Given the description of an element on the screen output the (x, y) to click on. 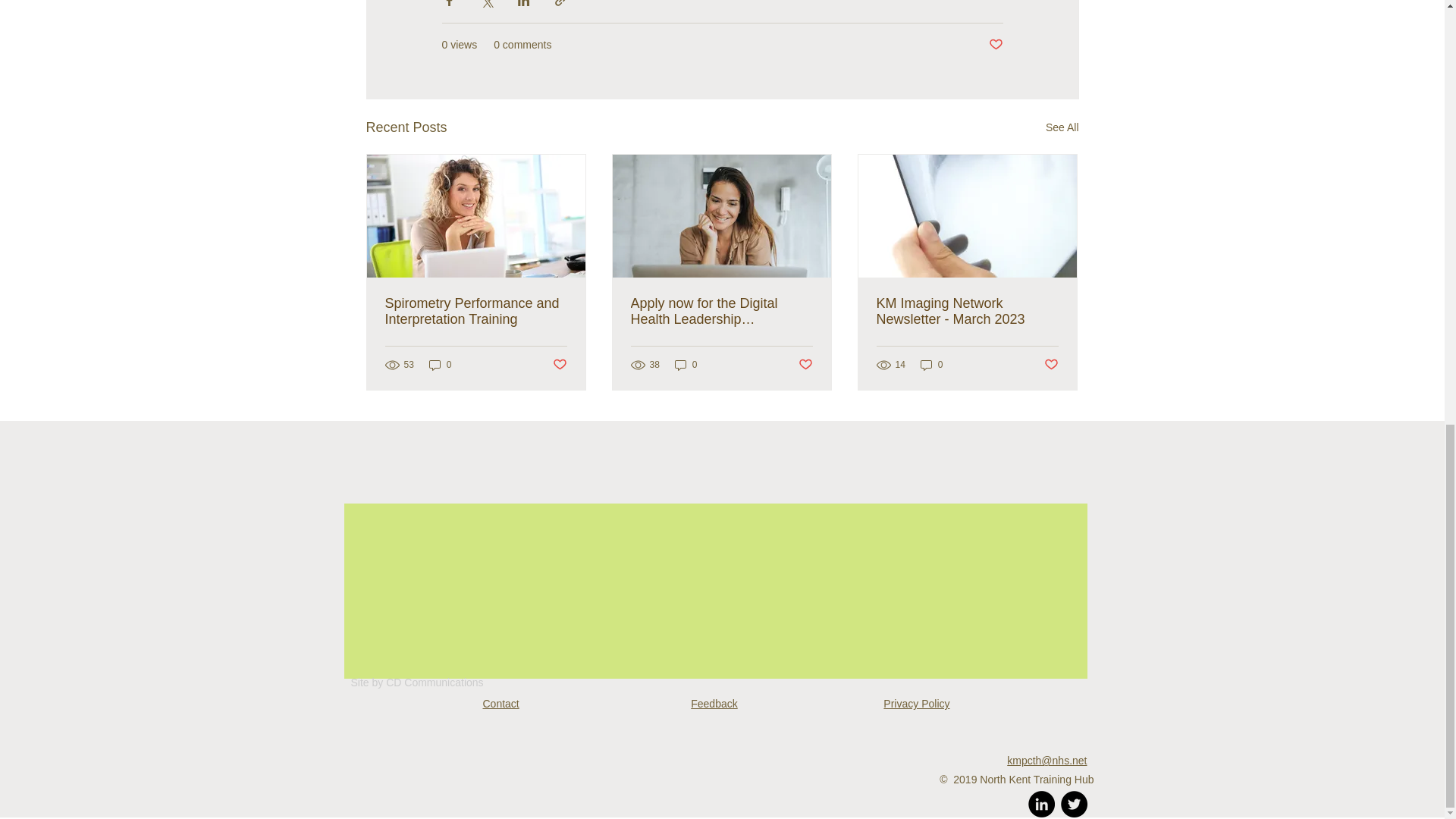
Post not marked as liked (1050, 365)
0 (931, 364)
KM Imaging Network Newsletter - March 2023 (967, 311)
Post not marked as liked (558, 365)
0 (440, 364)
Apply now for the Digital Health Leadership Programme (721, 311)
Post not marked as liked (804, 365)
Post not marked as liked (995, 44)
0 (685, 364)
Spirometry Performance and Interpretation Training (476, 311)
See All (1061, 127)
